Given the description of an element on the screen output the (x, y) to click on. 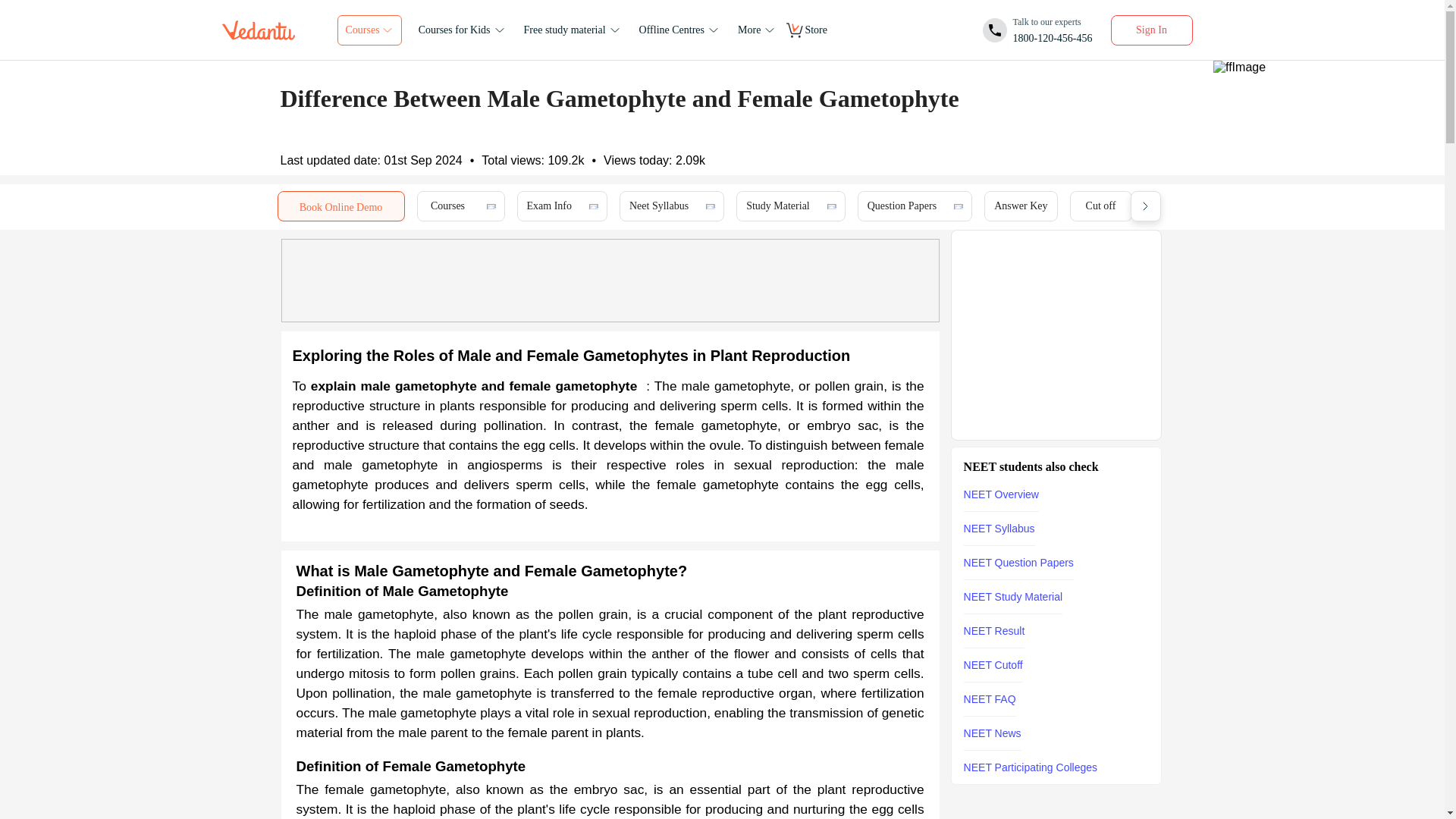
Cut off (1101, 205)
Neet Syllabus (658, 205)
Study Material (1037, 30)
Offline Centres (777, 205)
Answer Key (680, 30)
Courses (1020, 205)
Neet Courses (447, 205)
Question Papers (447, 205)
Neet Syllabus (901, 205)
